Given the description of an element on the screen output the (x, y) to click on. 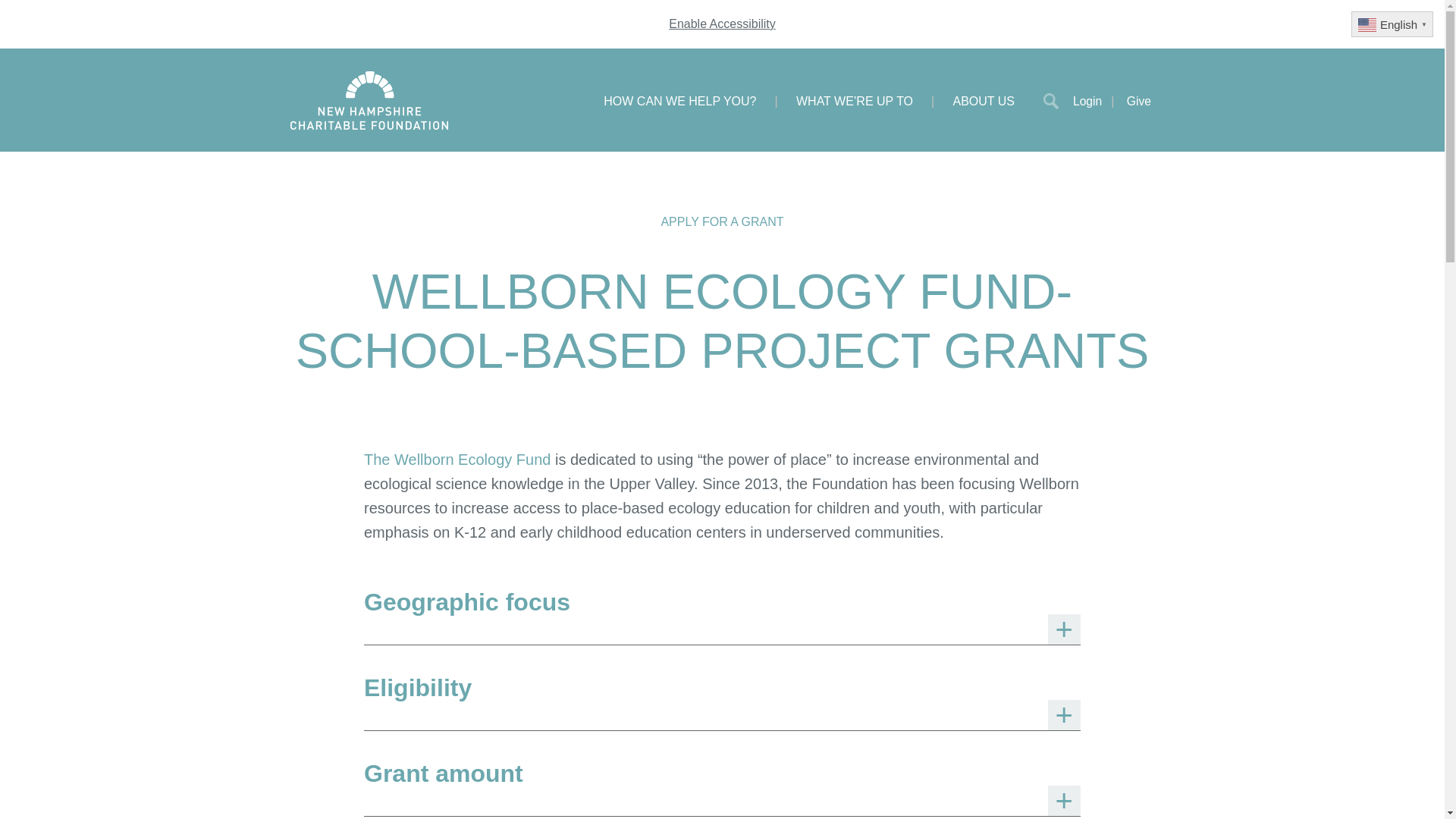
Search (1050, 99)
ABOUT US (984, 99)
Login (1097, 100)
Enable Accessibility (722, 23)
Give (1138, 100)
HOW CAN WE HELP YOU? (679, 99)
APPLY FOR A GRANT (722, 221)
NH Charitable Foundation (367, 100)
